Given the description of an element on the screen output the (x, y) to click on. 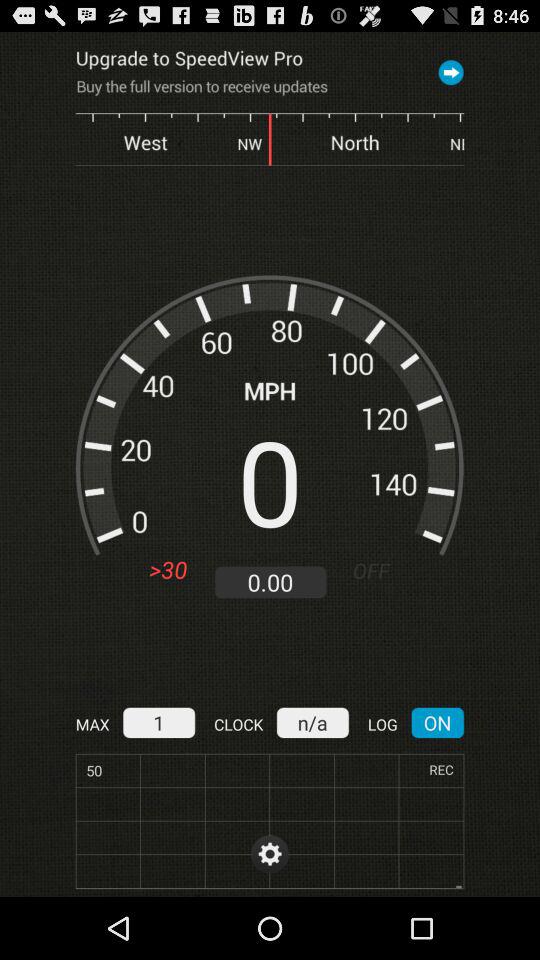
choose the >30 app (168, 570)
